Given the description of an element on the screen output the (x, y) to click on. 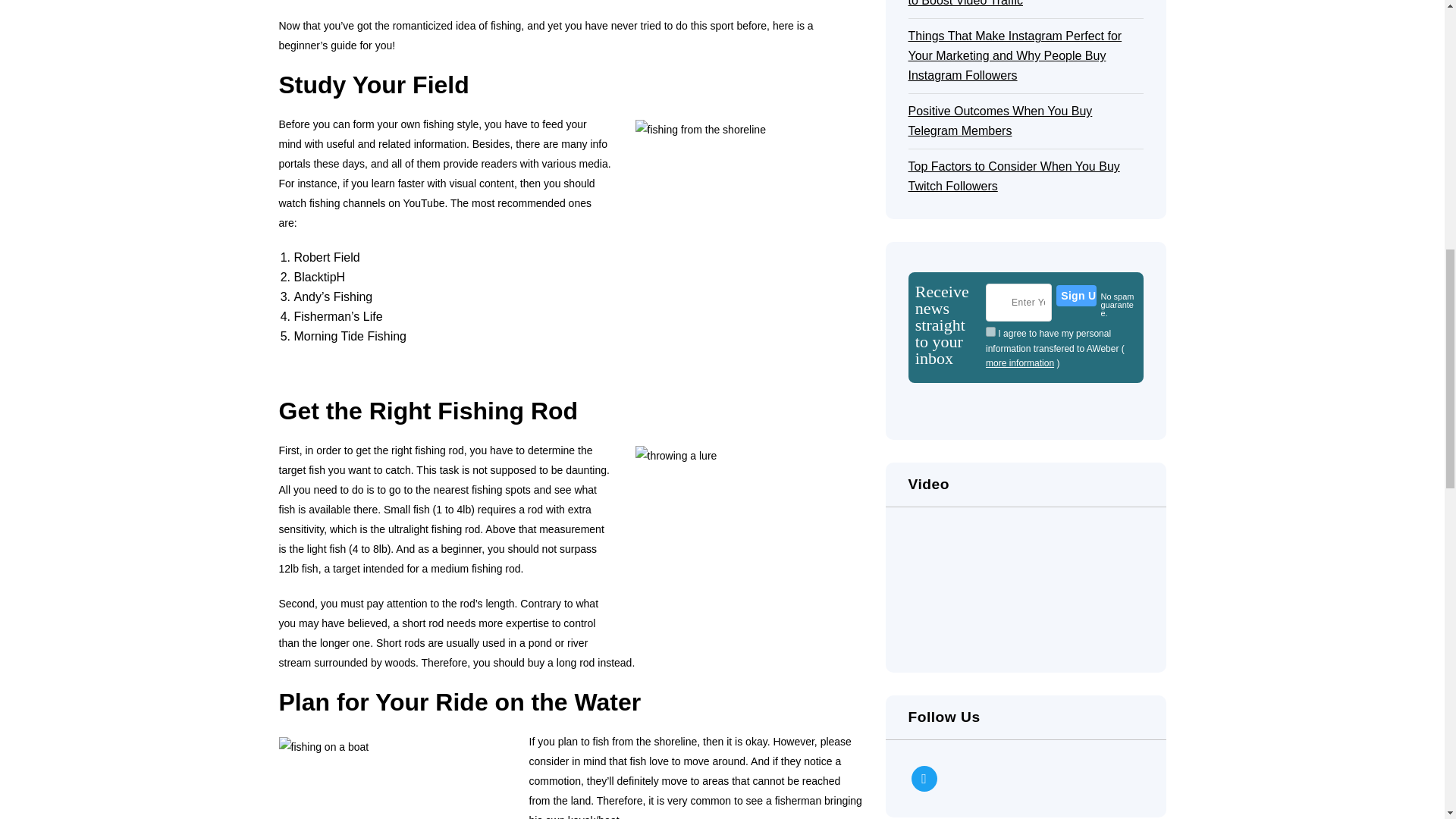
Facebook (924, 778)
Sign Up (1076, 295)
on (990, 331)
Positive Outcomes When You Buy Telegram Members (1025, 120)
Top Factors to Consider When You Buy Twitch Followers (1025, 176)
twitter (924, 778)
Sign Up (1076, 295)
more information (1019, 363)
